Given the description of an element on the screen output the (x, y) to click on. 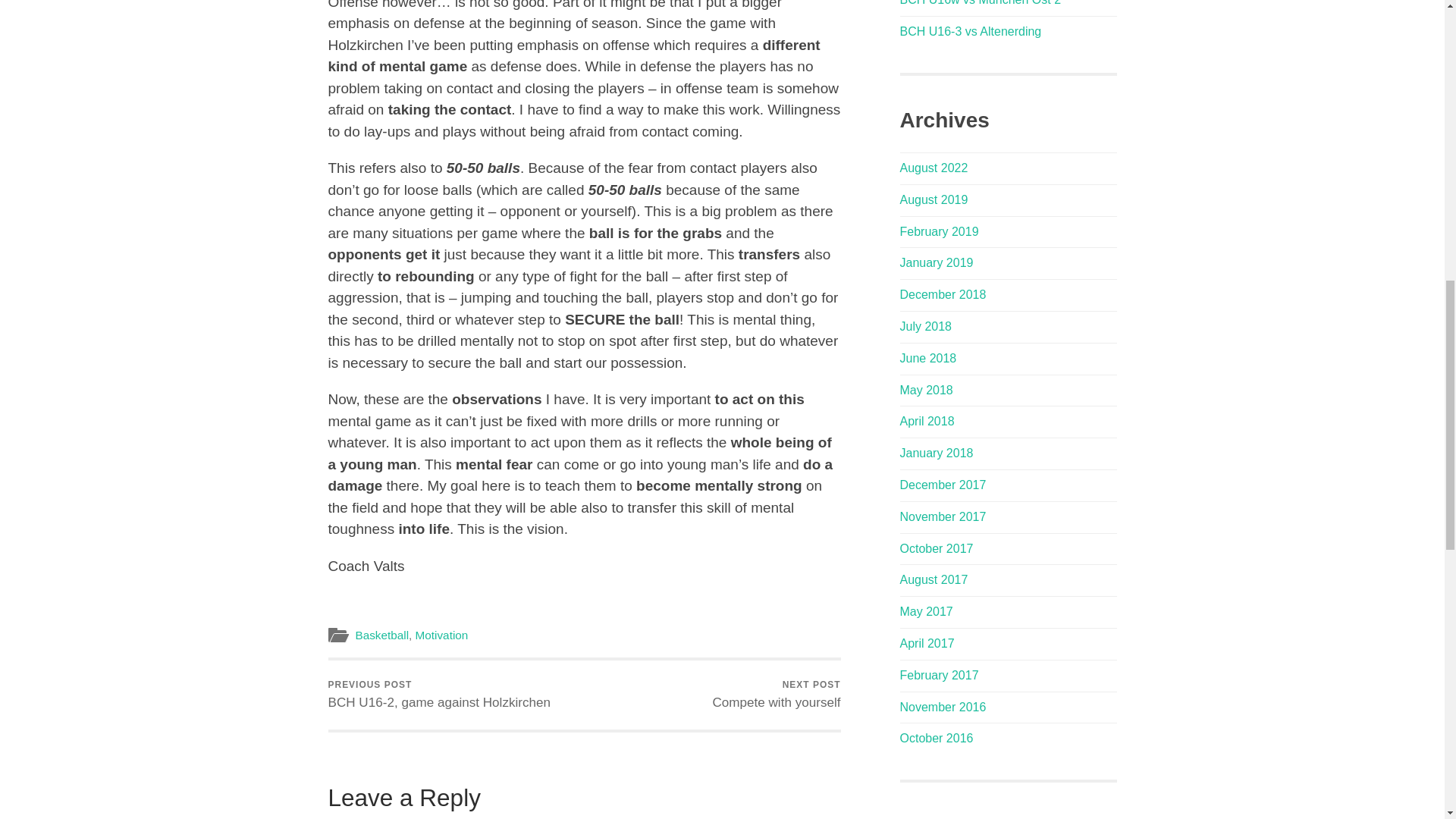
BCH U16-3 vs Altenerding (970, 31)
October 2017 (935, 548)
April 2018 (926, 420)
July 2018 (925, 326)
January 2018 (935, 452)
January 2019 (935, 262)
November 2017 (438, 694)
February 2019 (942, 516)
December 2017 (938, 231)
Basketball (942, 484)
August 2019 (382, 634)
May 2018 (933, 199)
Motivation (775, 694)
